Given the description of an element on the screen output the (x, y) to click on. 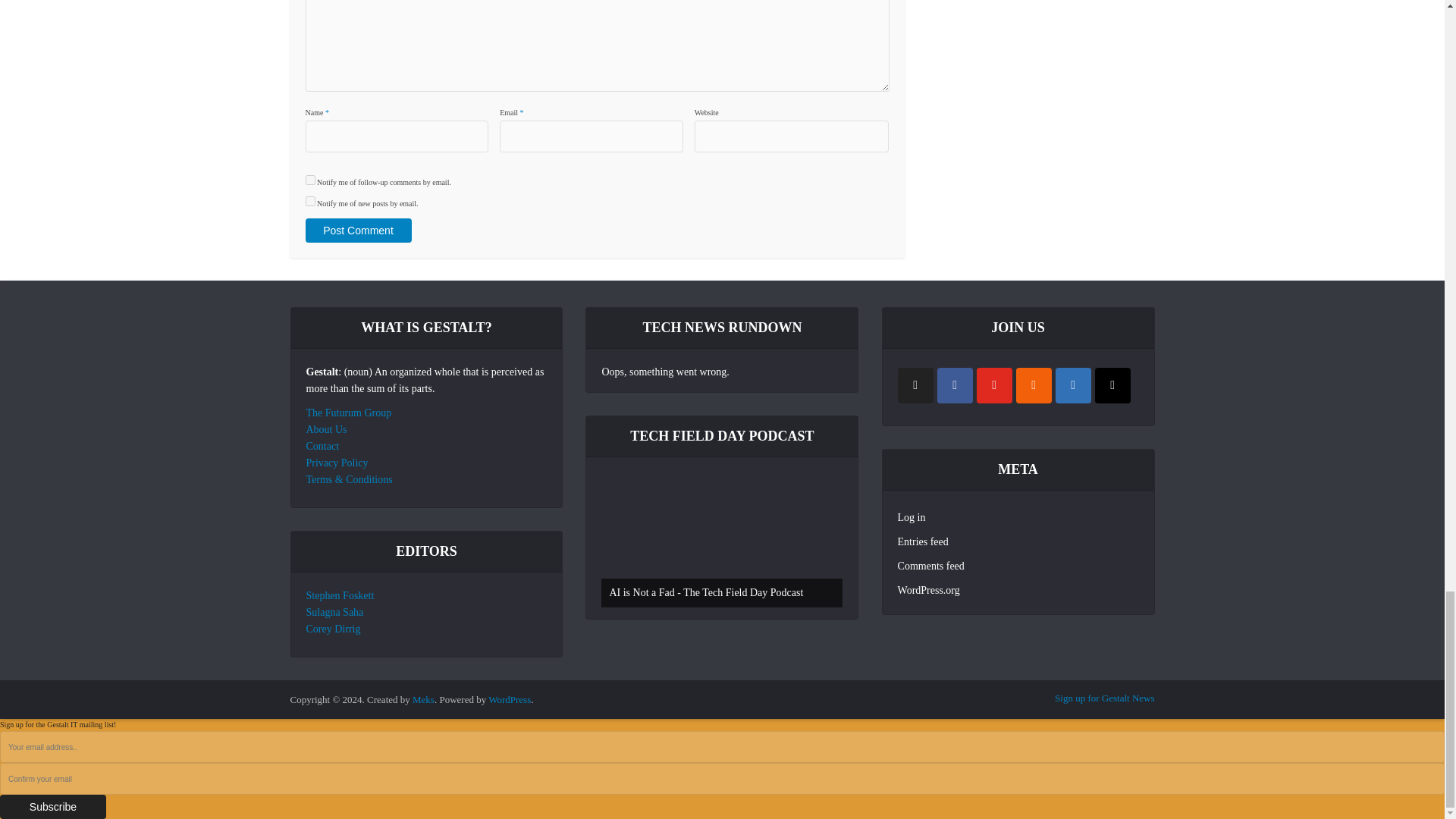
Facebook (954, 385)
Post Comment (357, 230)
Linkedin (1072, 385)
Mail (1112, 385)
AI is Not a Fad - The Tech Field Day Podcast (722, 540)
YouTube (993, 385)
subscribe (309, 180)
RSS (1033, 385)
subscribe (309, 201)
